Given the description of an element on the screen output the (x, y) to click on. 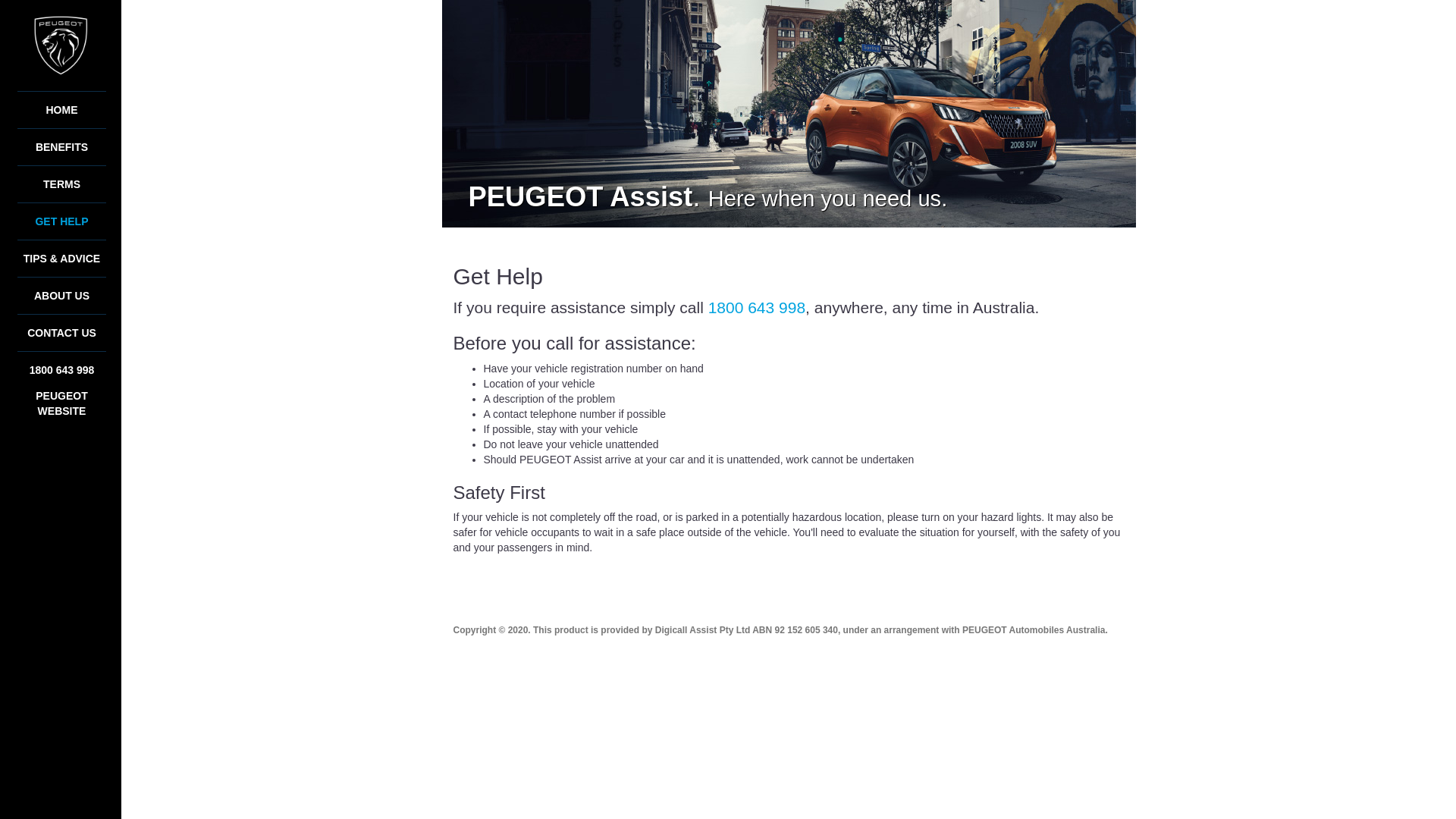
CONTACT US Element type: text (60, 332)
ABOUT US Element type: text (60, 294)
1800 643 998 Element type: text (60, 369)
BENEFITS Element type: text (60, 146)
TIPS & ADVICE Element type: text (60, 257)
TERMS Element type: text (60, 183)
GET HELP Element type: text (60, 220)
PEUGEOT WEBSITE Element type: text (60, 403)
HOME Element type: text (60, 109)
1800 643 998 Element type: text (756, 307)
